Given the description of an element on the screen output the (x, y) to click on. 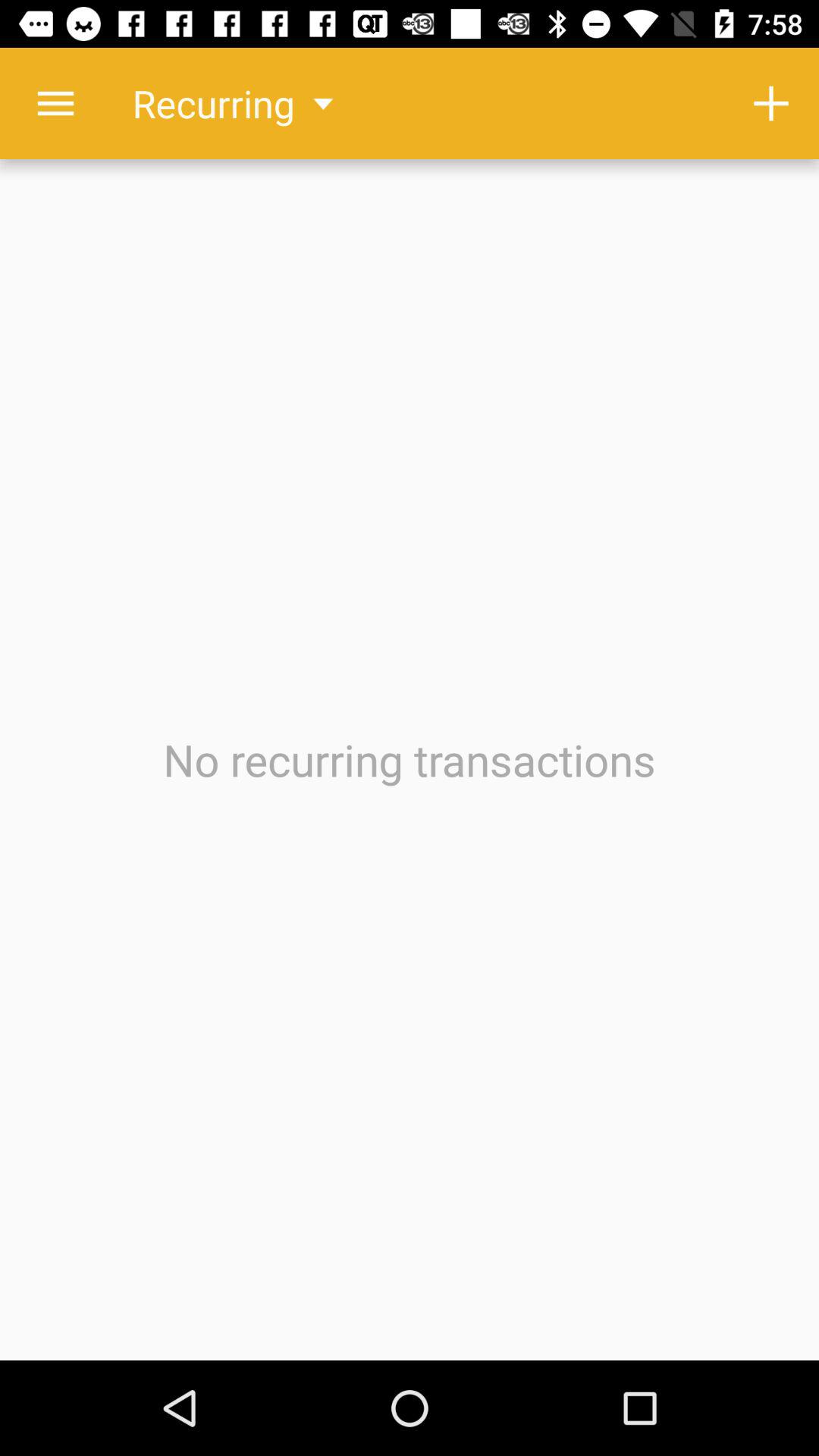
turn on the item at the top right corner (771, 103)
